Given the description of an element on the screen output the (x, y) to click on. 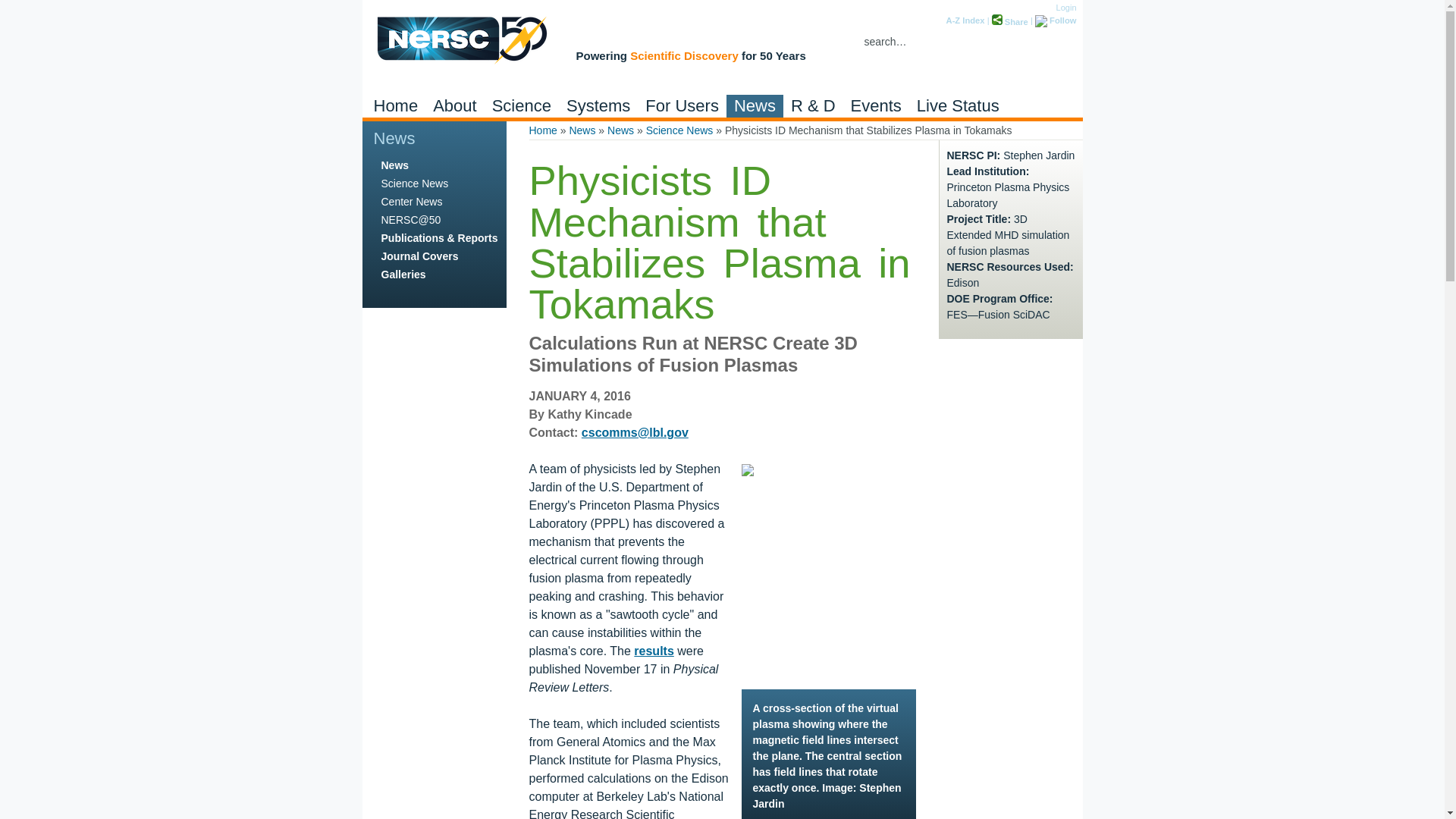
Share (1009, 21)
Share this page. (1009, 21)
Go (1066, 41)
A-Z Index (965, 20)
Self-Organized Stationary States of Tokamaks (652, 650)
Login (1067, 7)
Go (1066, 41)
About (454, 106)
Science (521, 106)
Home (394, 106)
